Given the description of an element on the screen output the (x, y) to click on. 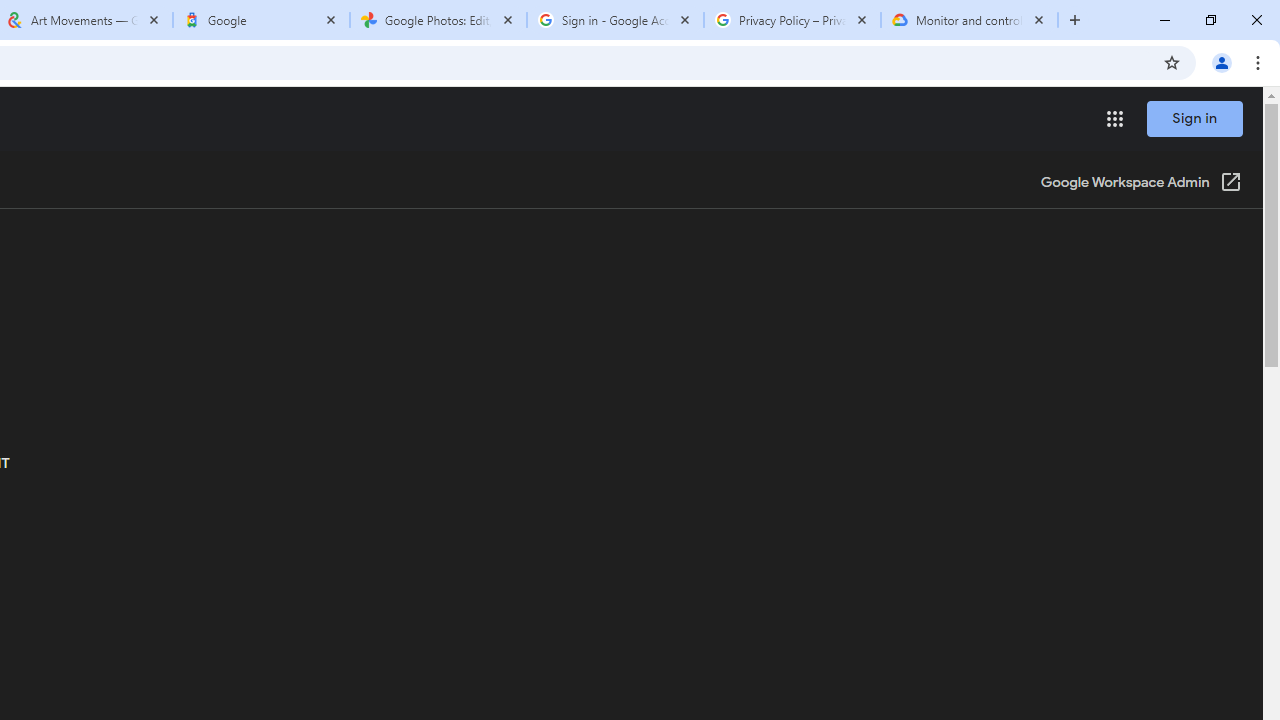
Sign in (1194, 118)
Google apps (1114, 118)
Google (260, 20)
Sign in - Google Accounts (615, 20)
